Given the description of an element on the screen output the (x, y) to click on. 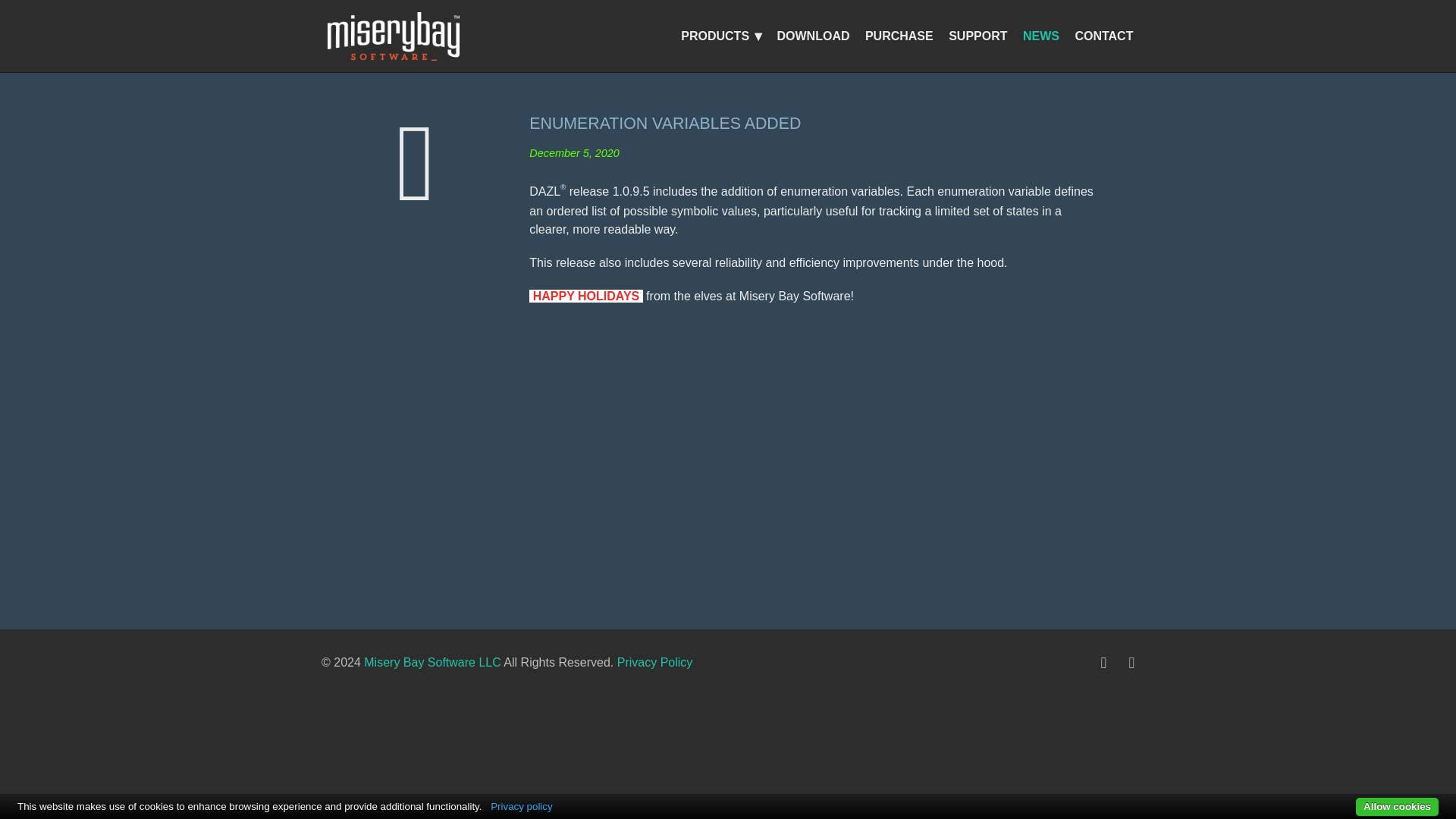
PRODUCTS (718, 36)
CONTACT (1107, 36)
SUPPORT (981, 36)
PURCHASE (902, 36)
Privacy Policy (655, 662)
Misery Bay Software LLC (432, 662)
Privacy policy (520, 806)
DOWNLOAD (816, 36)
Allow cookies (1396, 806)
